Given the description of an element on the screen output the (x, y) to click on. 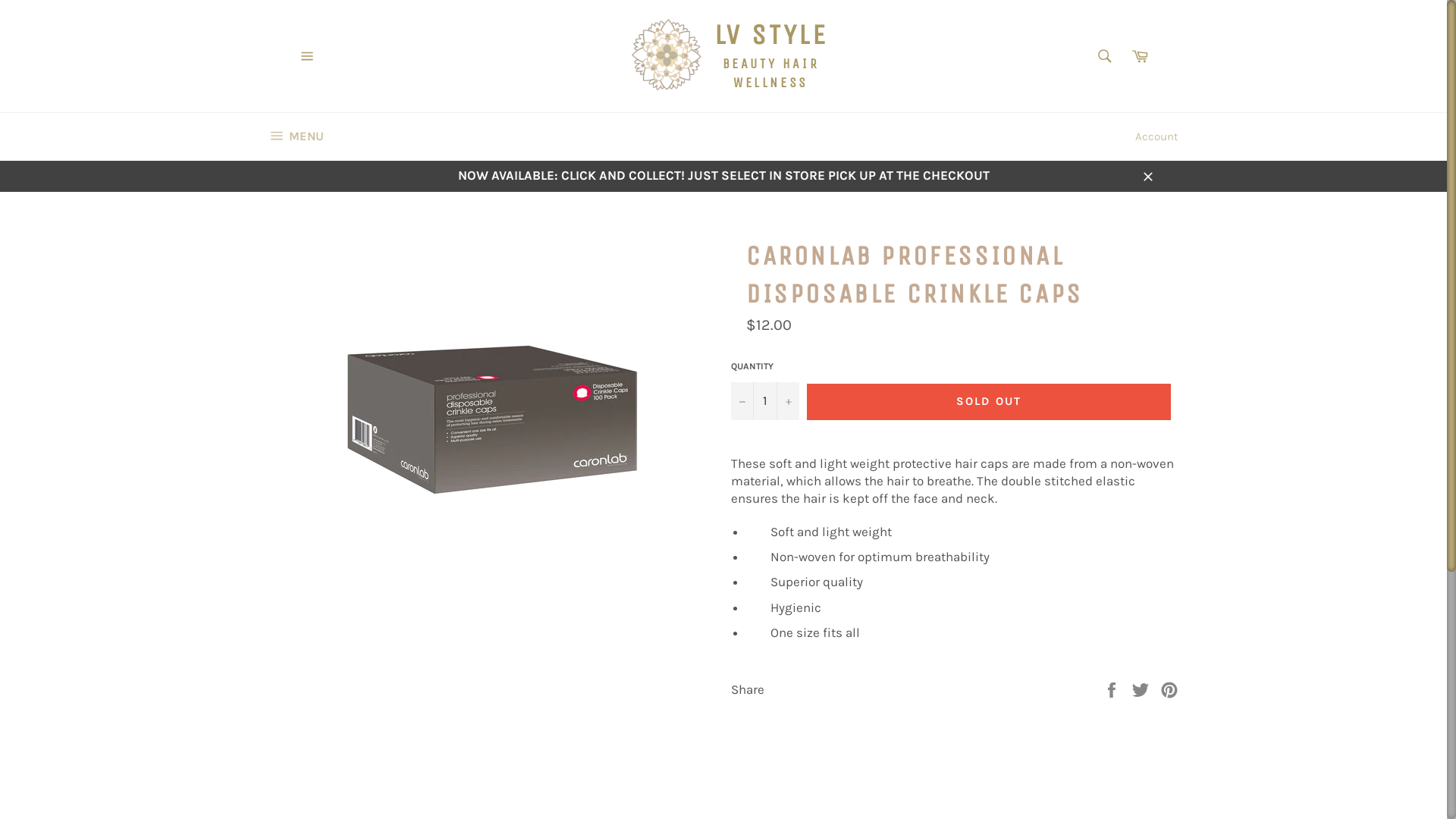
Tweet on Twitter Element type: text (1141, 688)
Search Element type: text (1104, 56)
Share on Facebook Element type: text (1112, 688)
Close Element type: text (1147, 175)
Site navigation Element type: text (307, 56)
+ Element type: text (787, 400)
Cart Element type: text (1139, 56)
Account Element type: text (1156, 136)
LV STYLE
BEAUTY HAIR WELLNESS Element type: text (723, 56)
SOLD OUT Element type: text (988, 401)
MENU
SITE NAVIGATION Element type: text (296, 136)
Pin on Pinterest Element type: text (1169, 688)
